Given the description of an element on the screen output the (x, y) to click on. 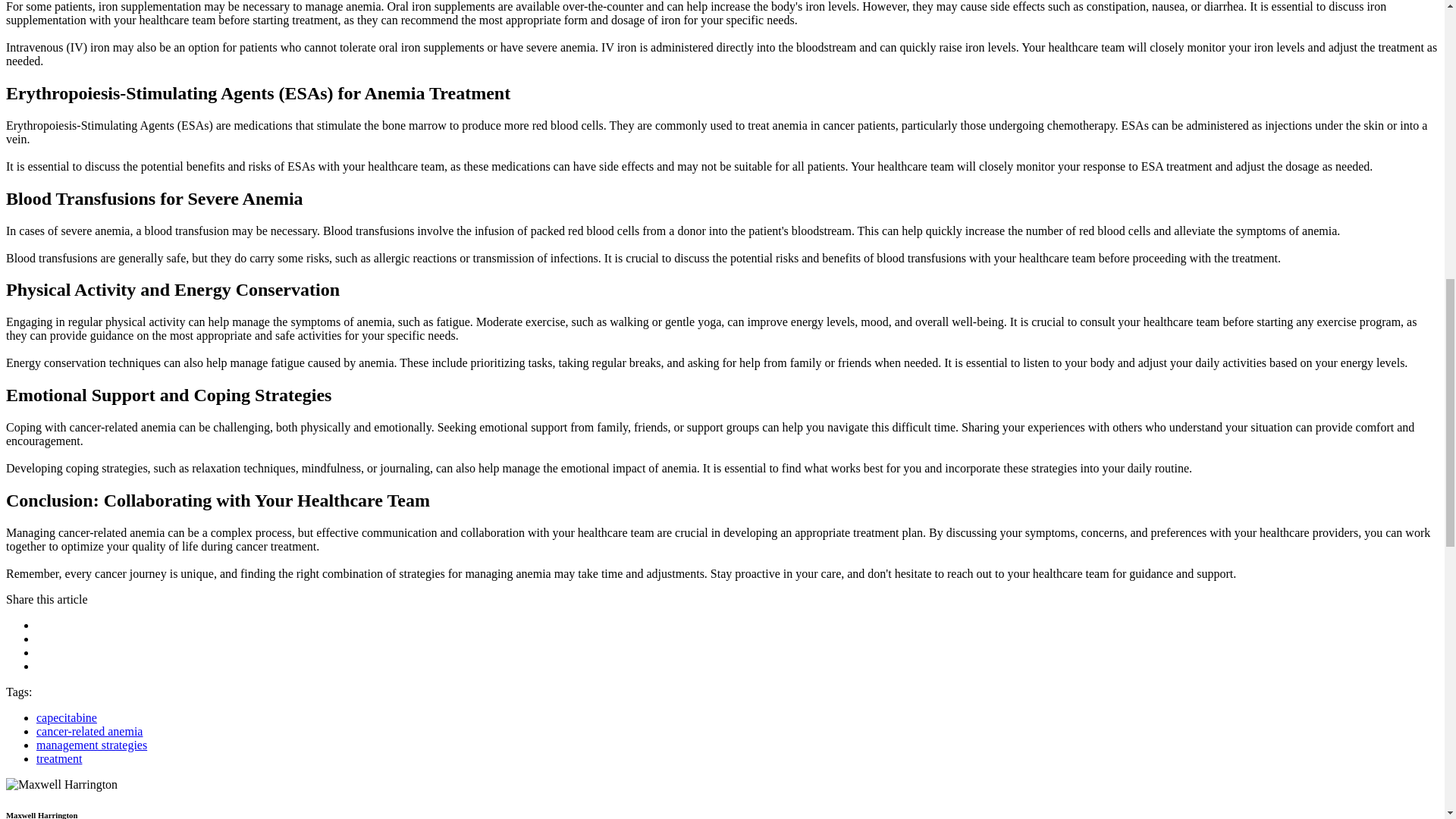
capecitabine (66, 717)
cancer-related anemia (89, 730)
management strategies (91, 744)
treatment (58, 758)
